Given the description of an element on the screen output the (x, y) to click on. 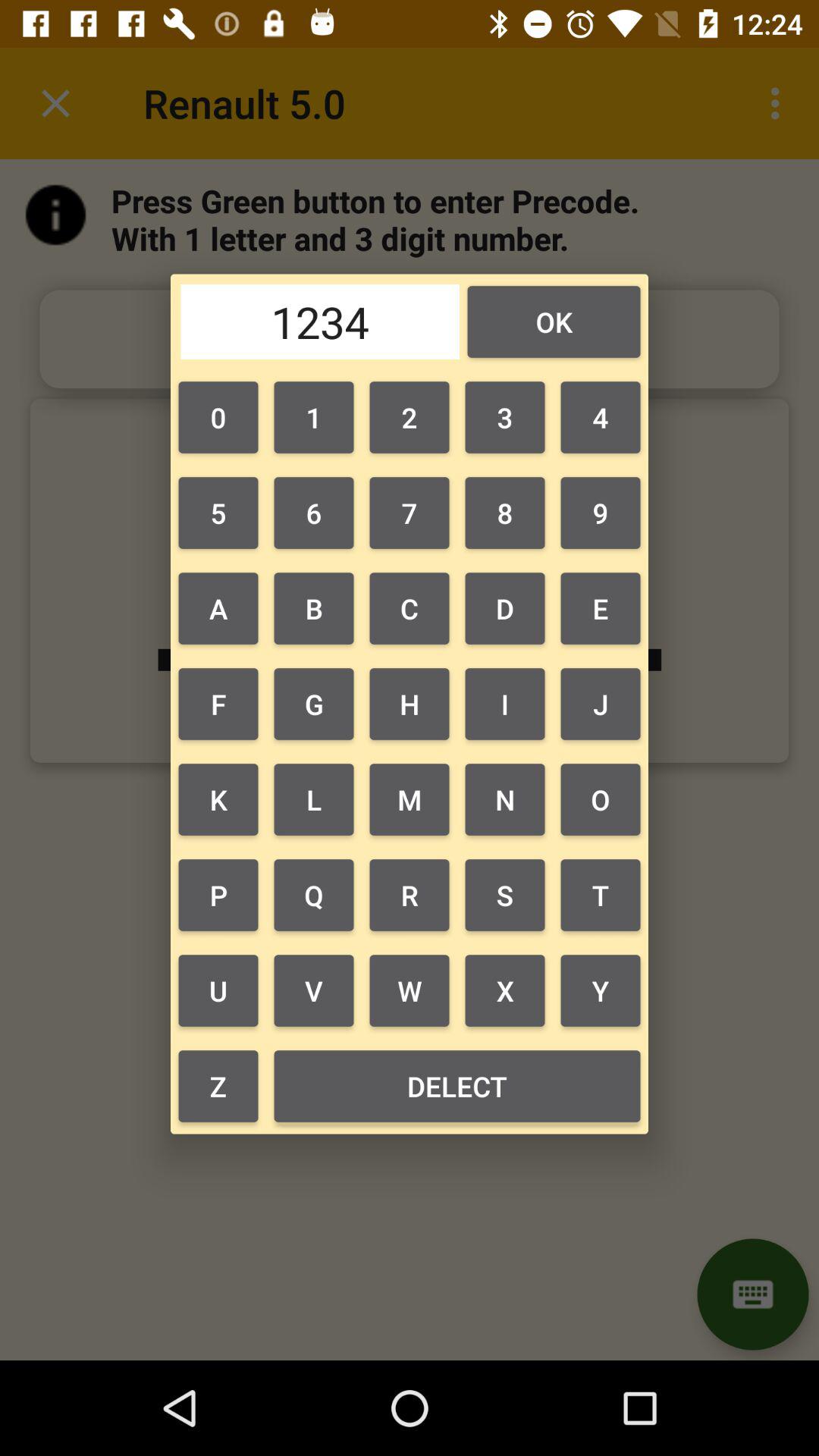
press the icon next to k button (313, 894)
